Given the description of an element on the screen output the (x, y) to click on. 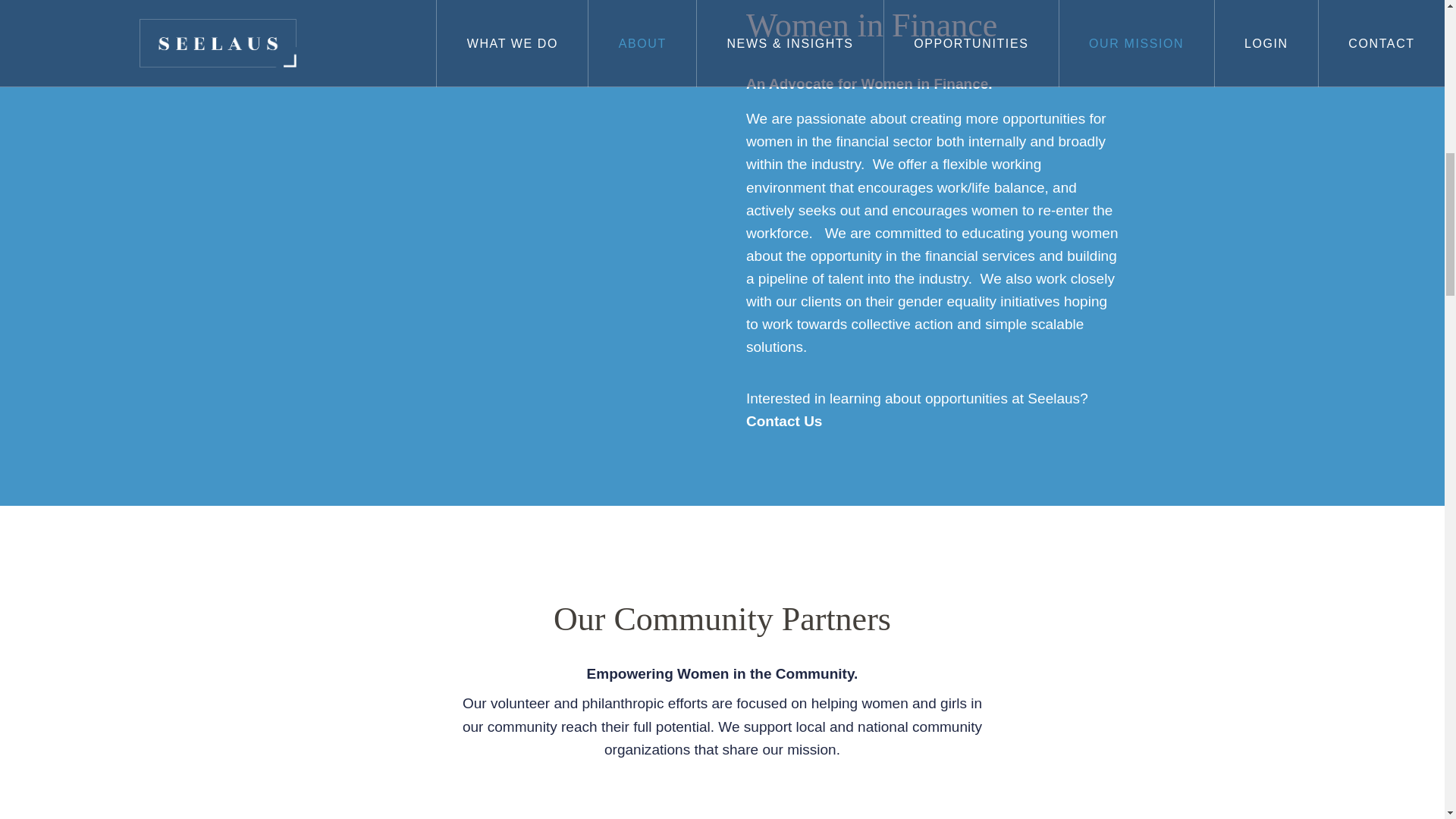
Contact Us (794, 421)
